Given the description of an element on the screen output the (x, y) to click on. 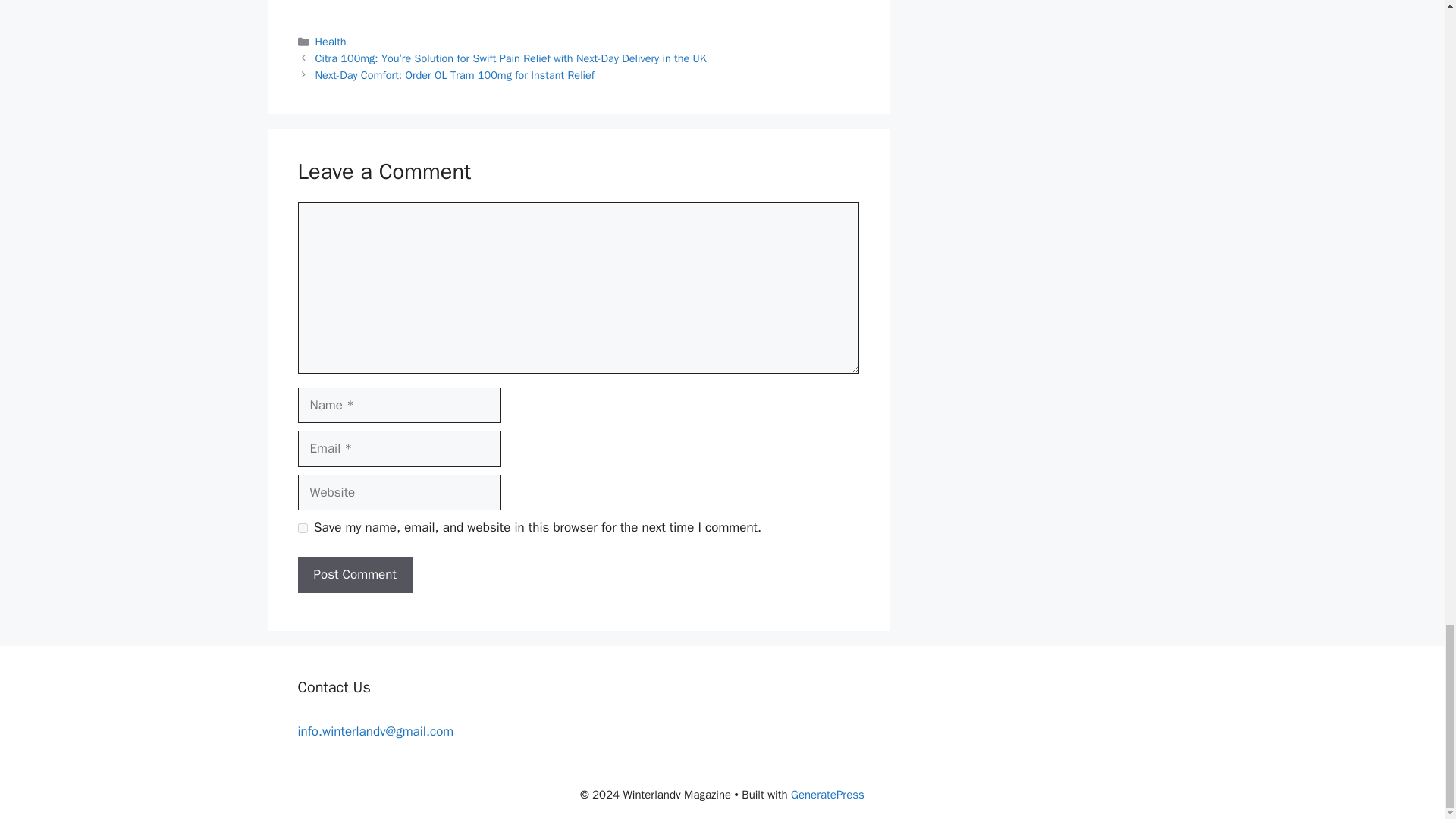
yes (302, 528)
Next-Day Comfort: Order OL Tram 100mg for Instant Relief (455, 74)
Post Comment (354, 574)
Post Comment (354, 574)
GeneratePress (827, 794)
Health (330, 41)
